Given the description of an element on the screen output the (x, y) to click on. 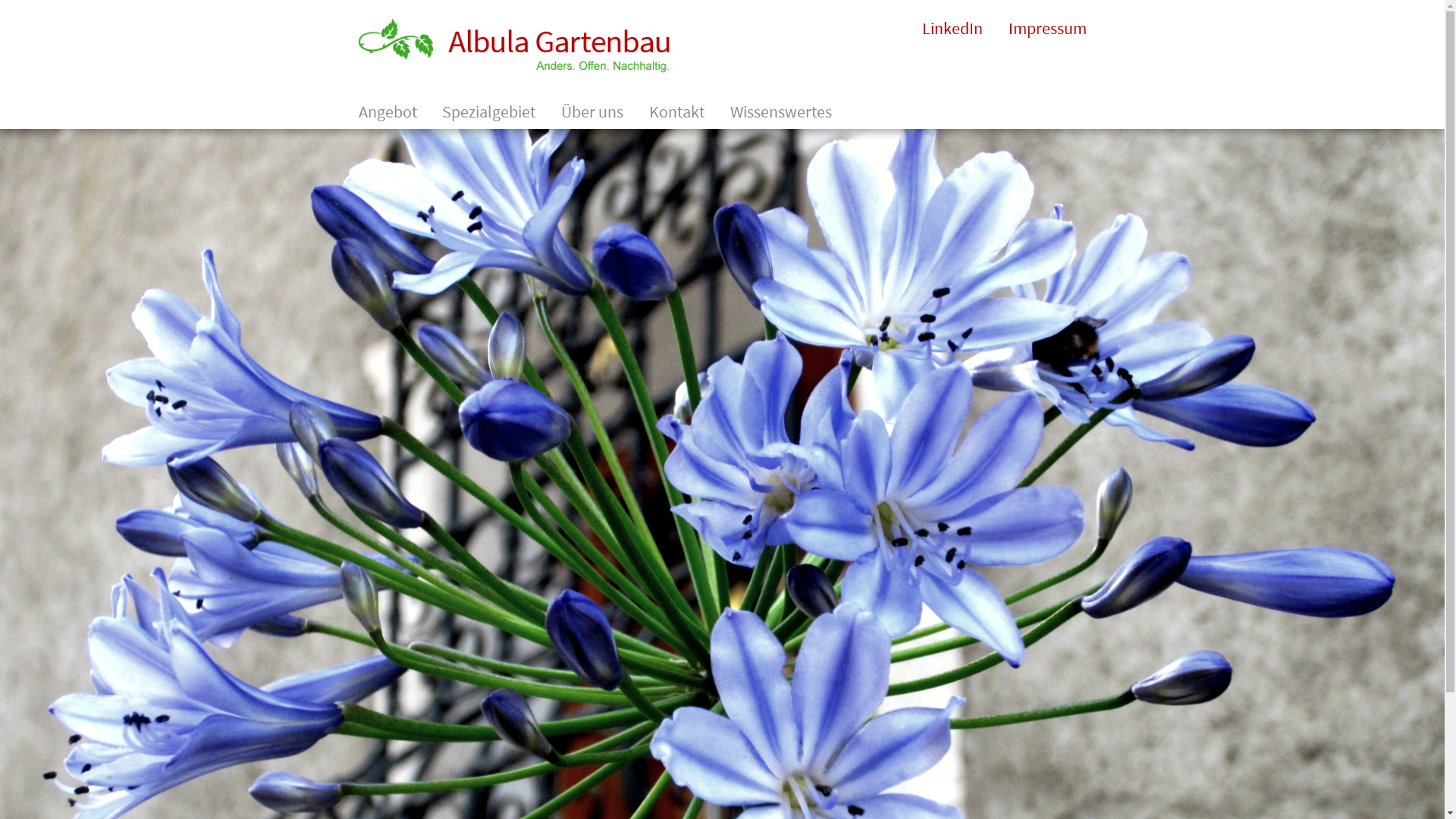
Angebot Element type: text (386, 111)
Impressum Element type: text (1047, 27)
LinkedIn Element type: text (952, 27)
Wissenswertes Element type: text (780, 111)
Spezialgebiet Element type: text (488, 111)
Kontakt Element type: text (676, 111)
